Given the description of an element on the screen output the (x, y) to click on. 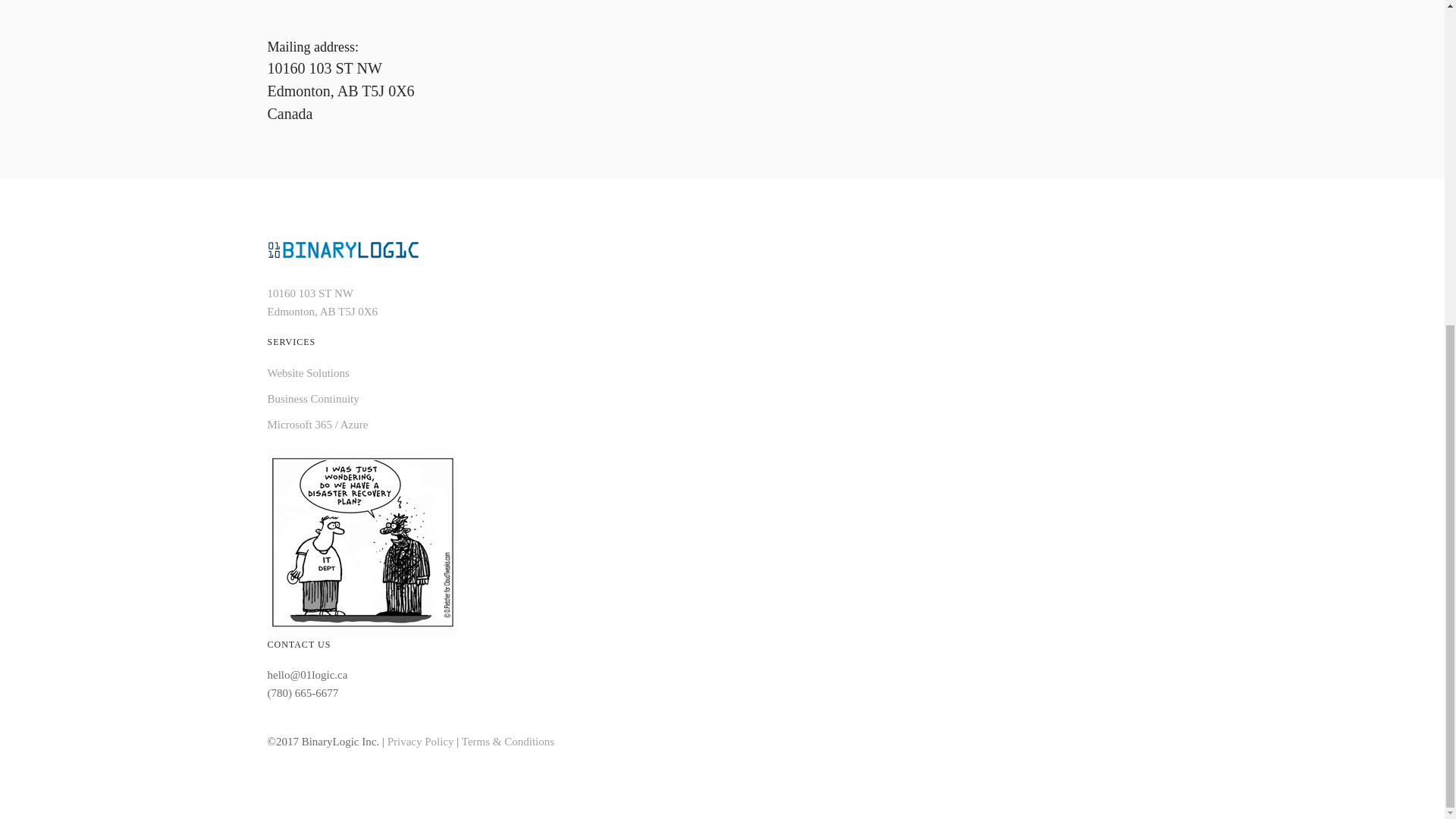
Website Solutions (307, 372)
Business Continuity (312, 398)
Mailing address: (312, 46)
Privacy Policy (422, 741)
